Given the description of an element on the screen output the (x, y) to click on. 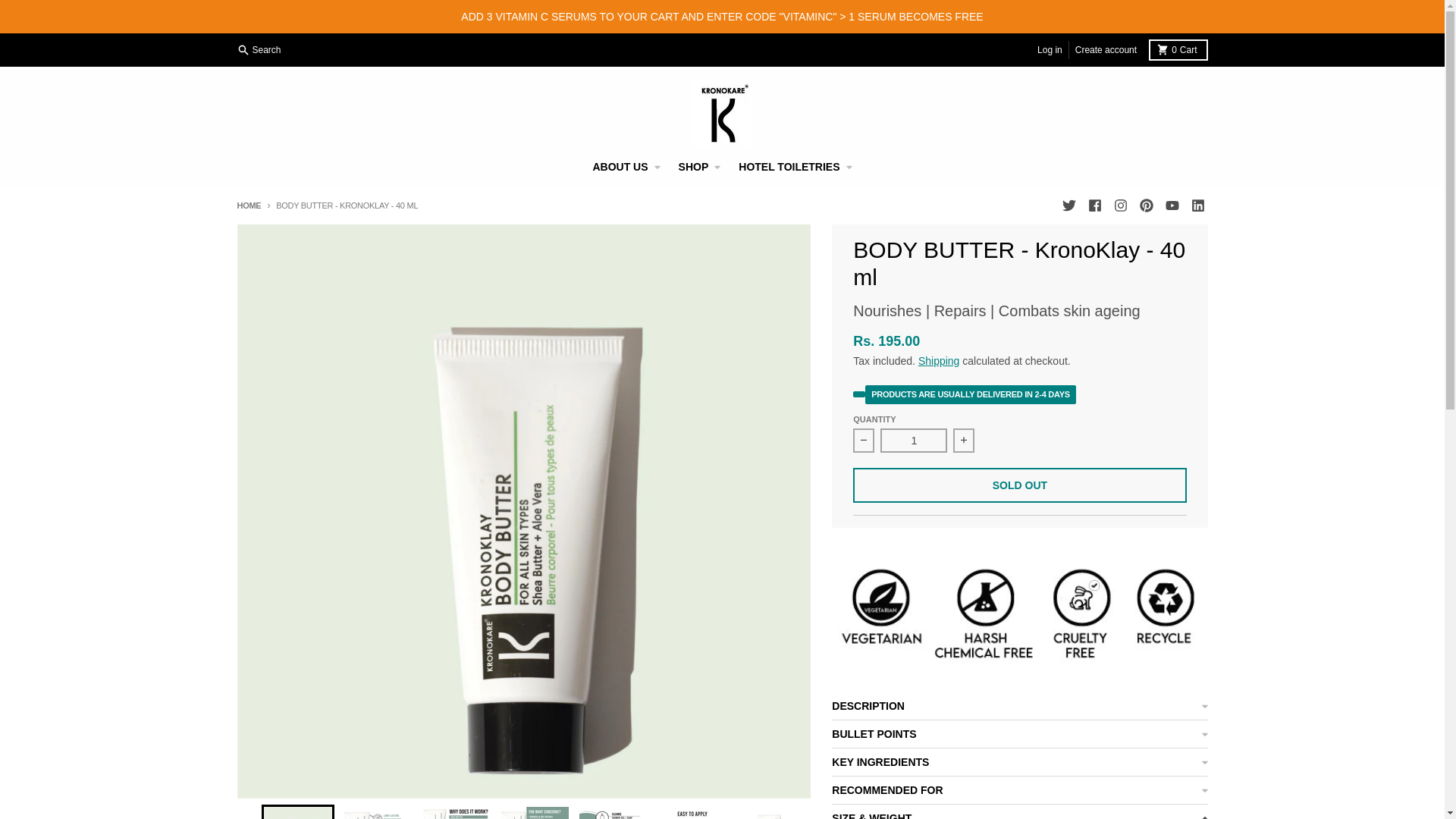
LinkedIn - Kronokare (1197, 205)
Facebook - Kronokare (1093, 205)
Create account (1105, 49)
YouTube - Kronokare (1177, 49)
Back to the homepage (1170, 205)
1 (247, 204)
Twitter - Kronokare (913, 439)
Pinterest - Kronokare (1068, 205)
Log in (1145, 205)
Instagram - Kronokare (1049, 49)
Search (1119, 205)
